Given the description of an element on the screen output the (x, y) to click on. 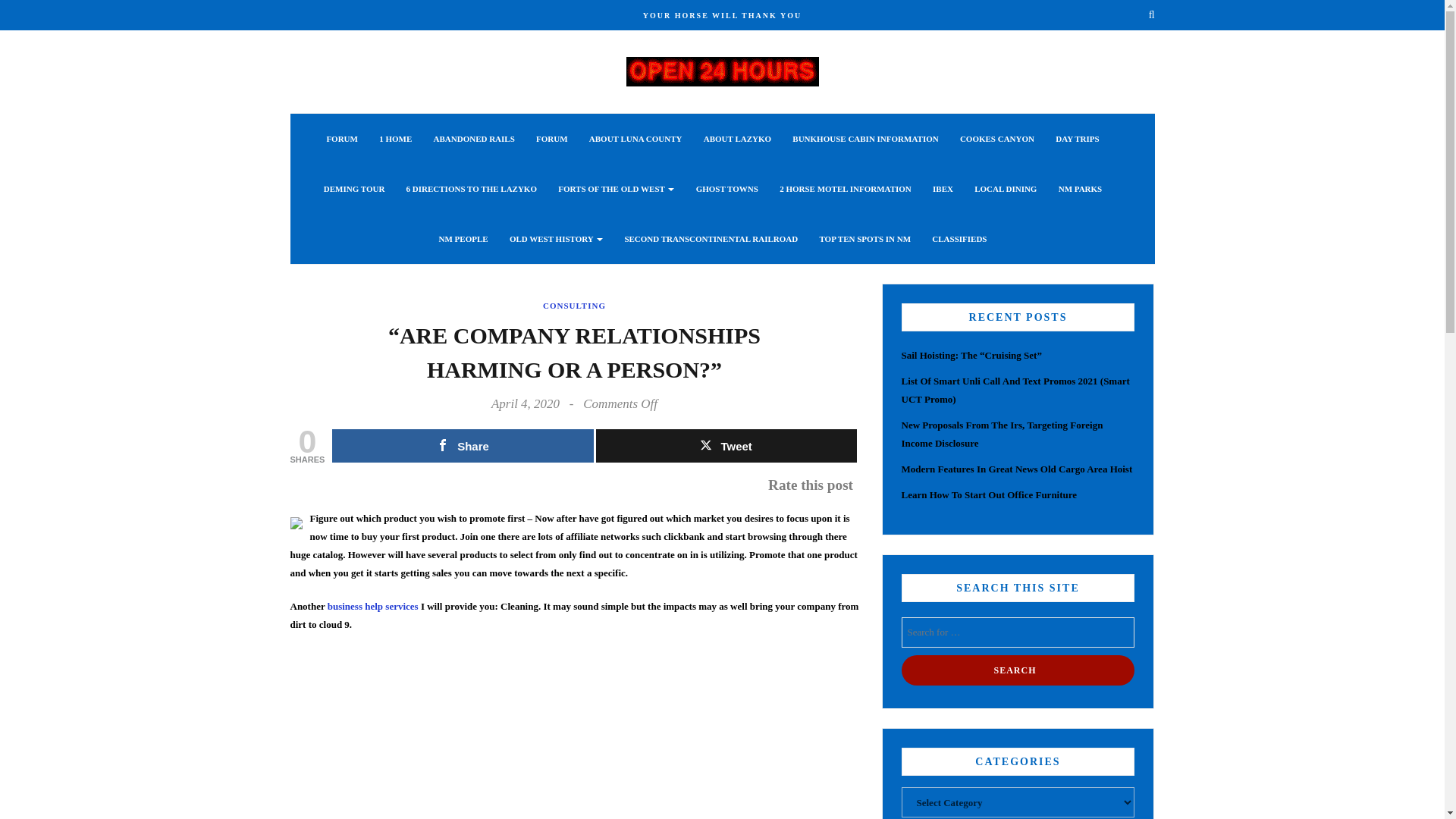
OLD WEST HISTORY (555, 238)
ABANDONED RAILS (474, 138)
BUNKHOUSE CABIN INFORMATION (864, 138)
GHOST TOWNS (726, 188)
ABOUT LAZYKO (737, 138)
Search (1017, 670)
BunkHouse Cabin Information (864, 138)
TOP TEN SPOTS IN NM (864, 238)
Forts of the Old West (615, 188)
LOCAL DINING (1005, 188)
FORTS OF THE OLD WEST (615, 188)
COOKES CANYON (996, 138)
6 Directions to the LazyKo (471, 188)
SECOND TRANSCONTINENTAL RAILROAD (710, 238)
NM PEOPLE (463, 238)
